Given the description of an element on the screen output the (x, y) to click on. 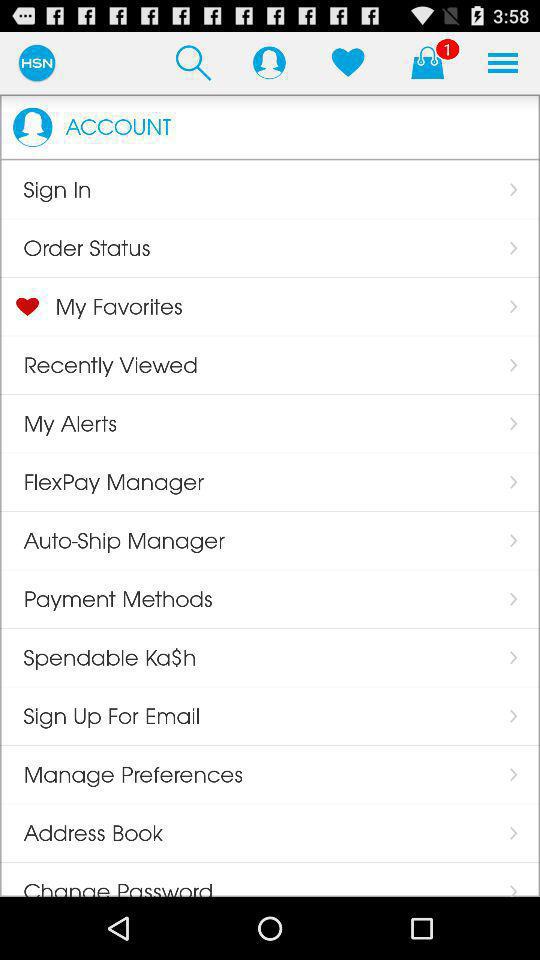
go to favorites tab (348, 62)
